Given the description of an element on the screen output the (x, y) to click on. 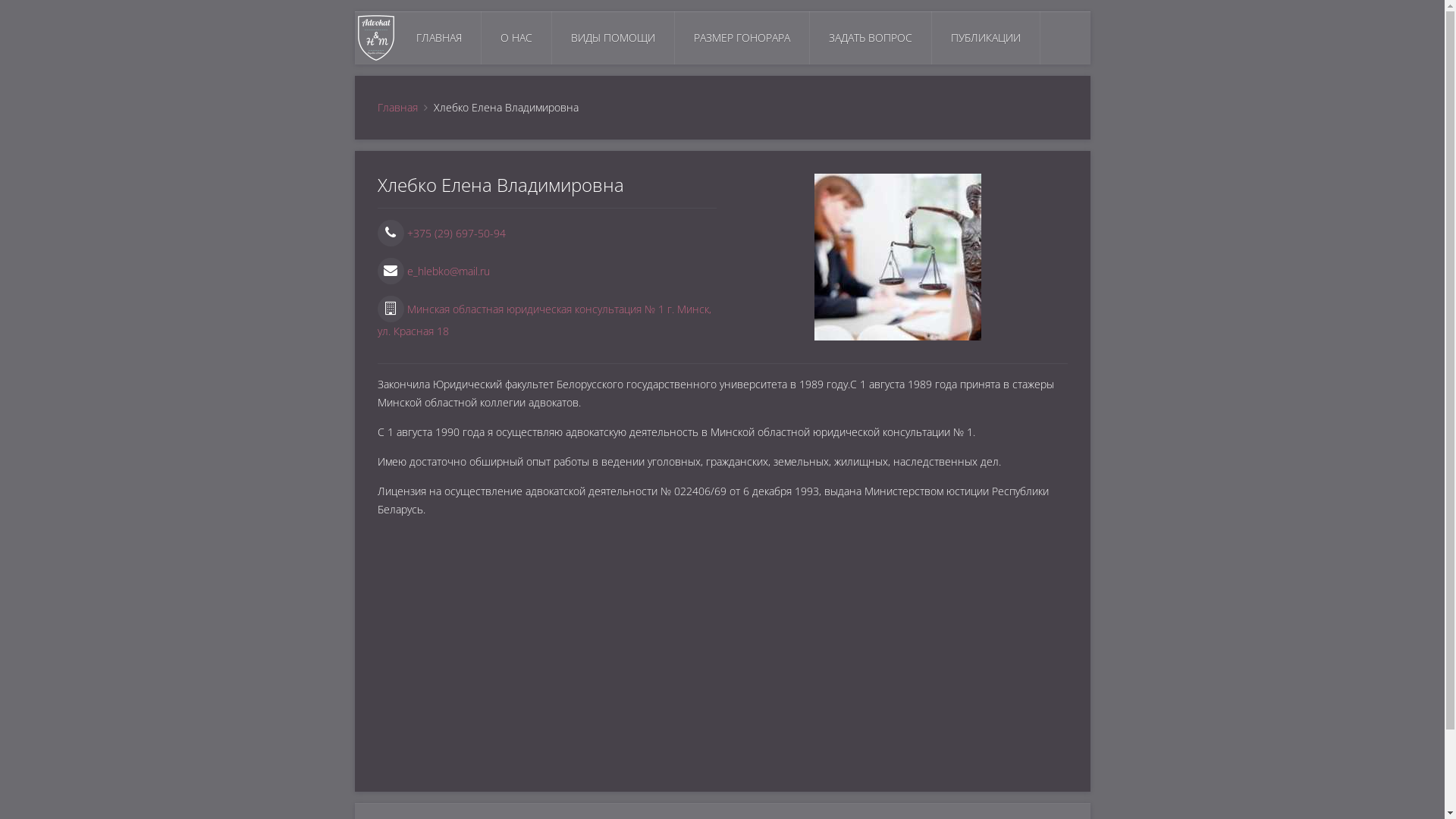
e_hlebko@mail.ru Element type: text (433, 270)
